Given the description of an element on the screen output the (x, y) to click on. 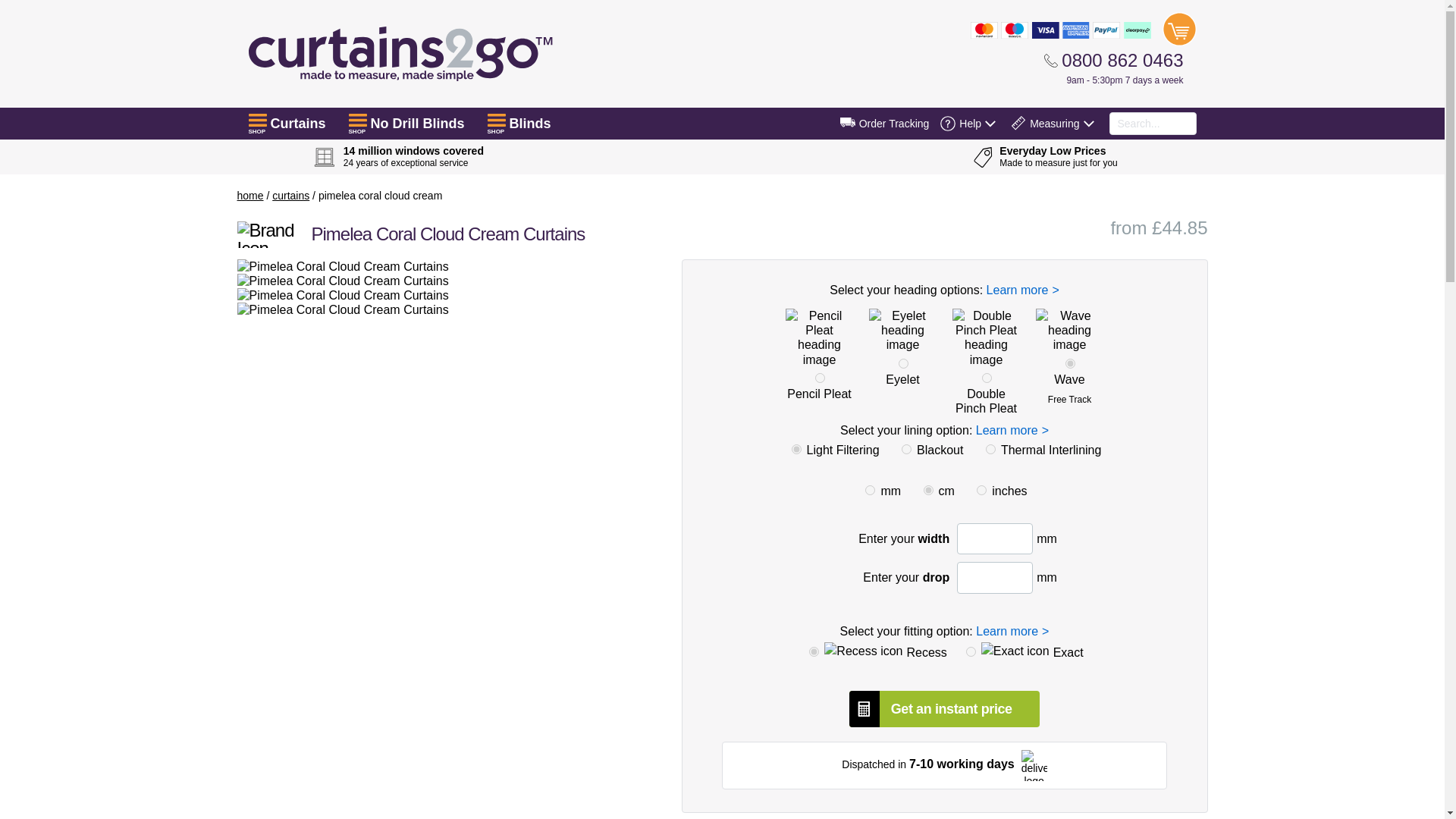
476 (906, 449)
72159 (903, 363)
E (970, 651)
burger icon (357, 119)
burger icon (496, 119)
delivery icon (848, 121)
white down arrow icon (1088, 122)
475 (797, 449)
R (813, 651)
72262 (1070, 363)
3 (928, 490)
716 (990, 449)
1 (869, 490)
72158 (820, 378)
burger icon (257, 119)
